Given the description of an element on the screen output the (x, y) to click on. 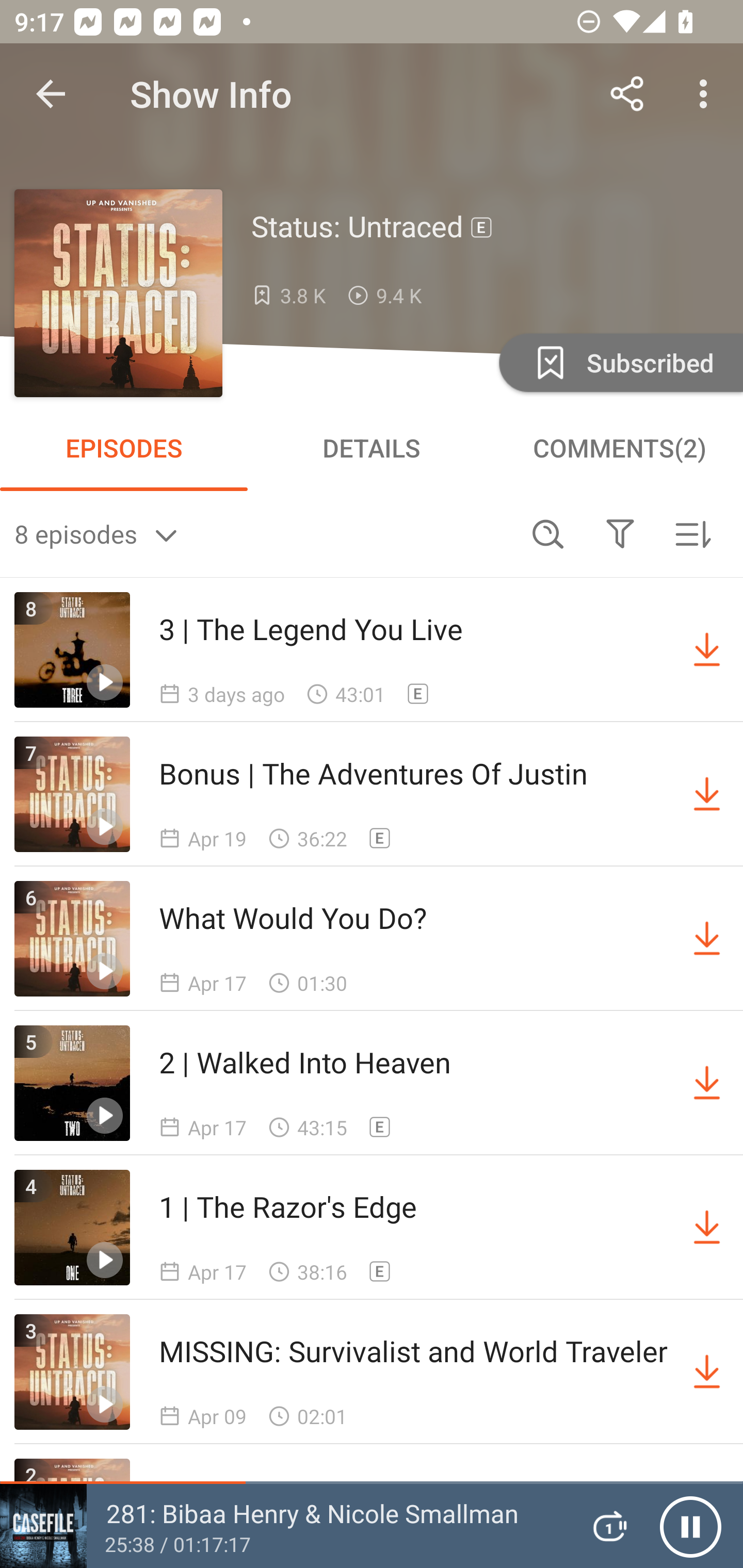
Navigate up (50, 93)
Share (626, 93)
More options (706, 93)
Unsubscribe Subscribed (619, 361)
EPISODES (123, 447)
DETAILS (371, 447)
COMMENTS(2) (619, 447)
8 episodes  (262, 533)
 Search (547, 533)
 (619, 533)
 Sorted by newest first (692, 533)
Download (706, 649)
Download (706, 793)
Download (706, 939)
Download (706, 1083)
Download (706, 1227)
Download (706, 1371)
Pause (690, 1526)
